Given the description of an element on the screen output the (x, y) to click on. 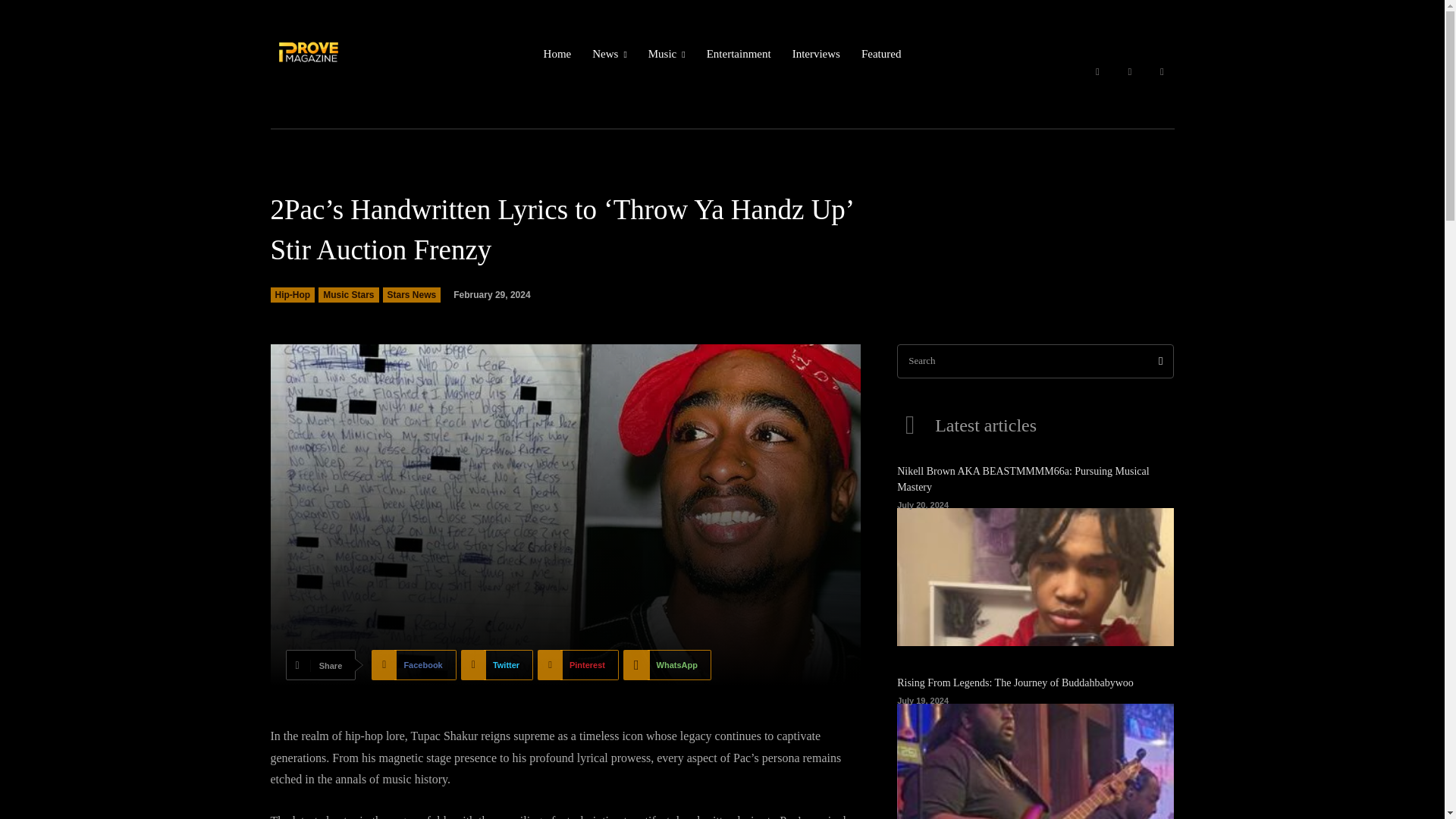
Nikell Brown AKA BEASTMMMM66a: Pursuing Musical Mastery (1023, 479)
Twitter (496, 665)
Facebook (1096, 72)
Pinterest (577, 665)
Facebook (413, 665)
Nikell Brown AKA BEASTMMMM66a: Pursuing Musical Mastery (1034, 577)
Instagram (1130, 72)
Rising From Legends: The Journey of Buddahbabywoo (1034, 761)
WhatsApp (667, 665)
Twitter (1162, 72)
